Given the description of an element on the screen output the (x, y) to click on. 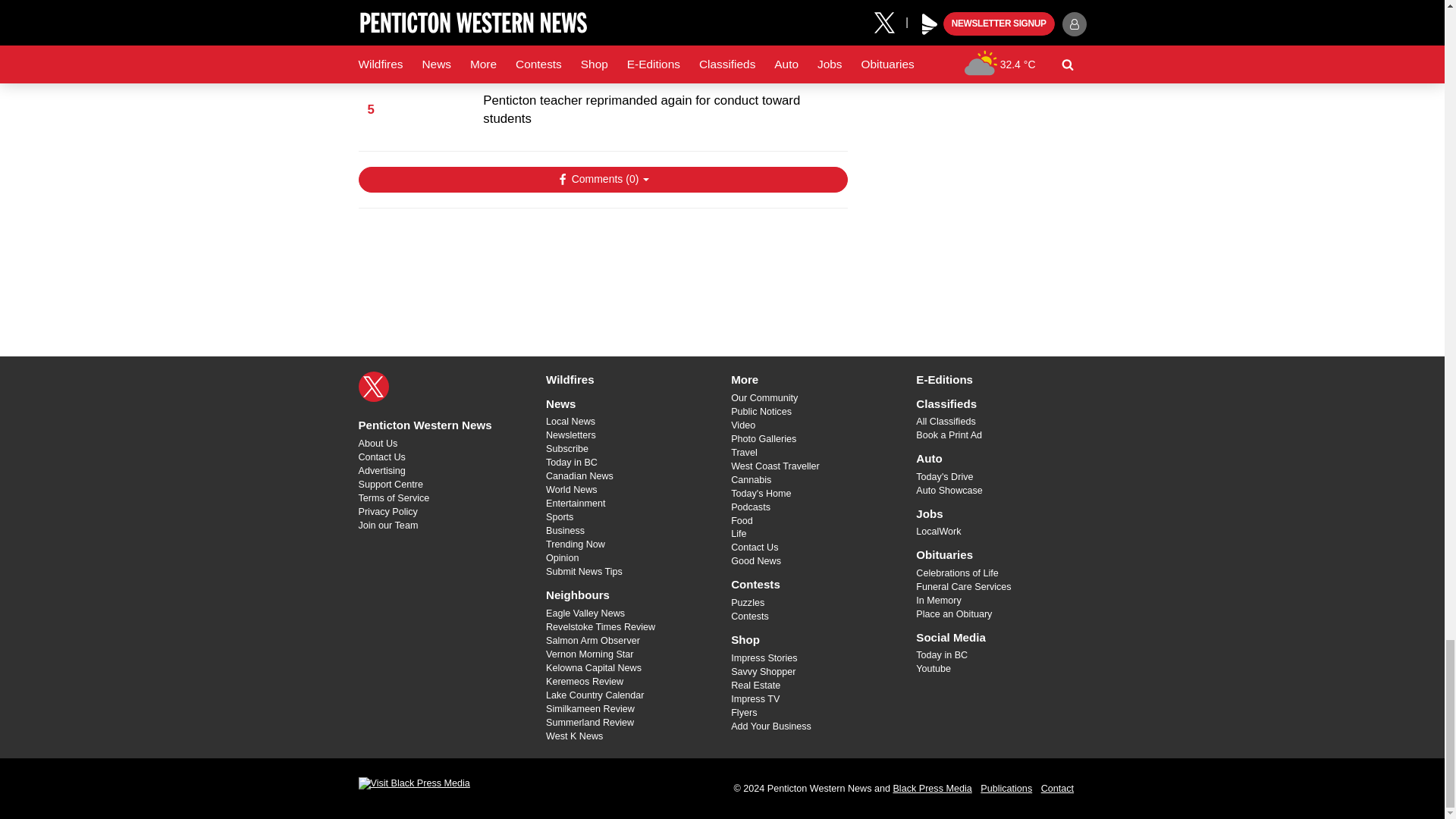
X (373, 386)
Show Comments (602, 179)
